Given the description of an element on the screen output the (x, y) to click on. 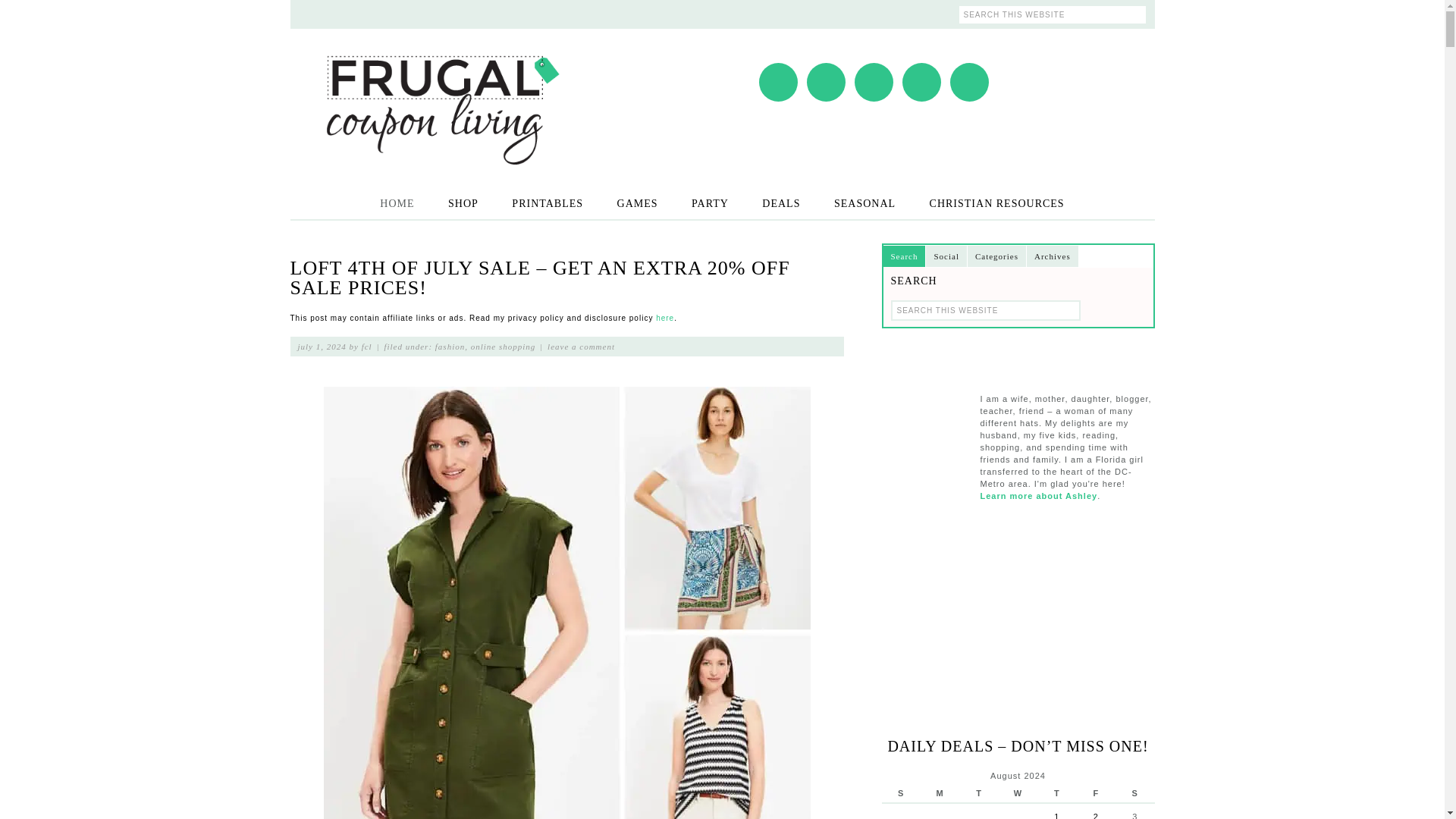
Tuesday (978, 793)
HOME (397, 203)
PARTY (710, 203)
Saturday (1134, 793)
Thursday (1055, 793)
Sunday (900, 793)
PRINTABLES (547, 203)
Monday (939, 793)
SEASONAL (864, 203)
Wednesday (1017, 793)
Friday (1096, 793)
Frugal Coupon Living (441, 90)
